Given the description of an element on the screen output the (x, y) to click on. 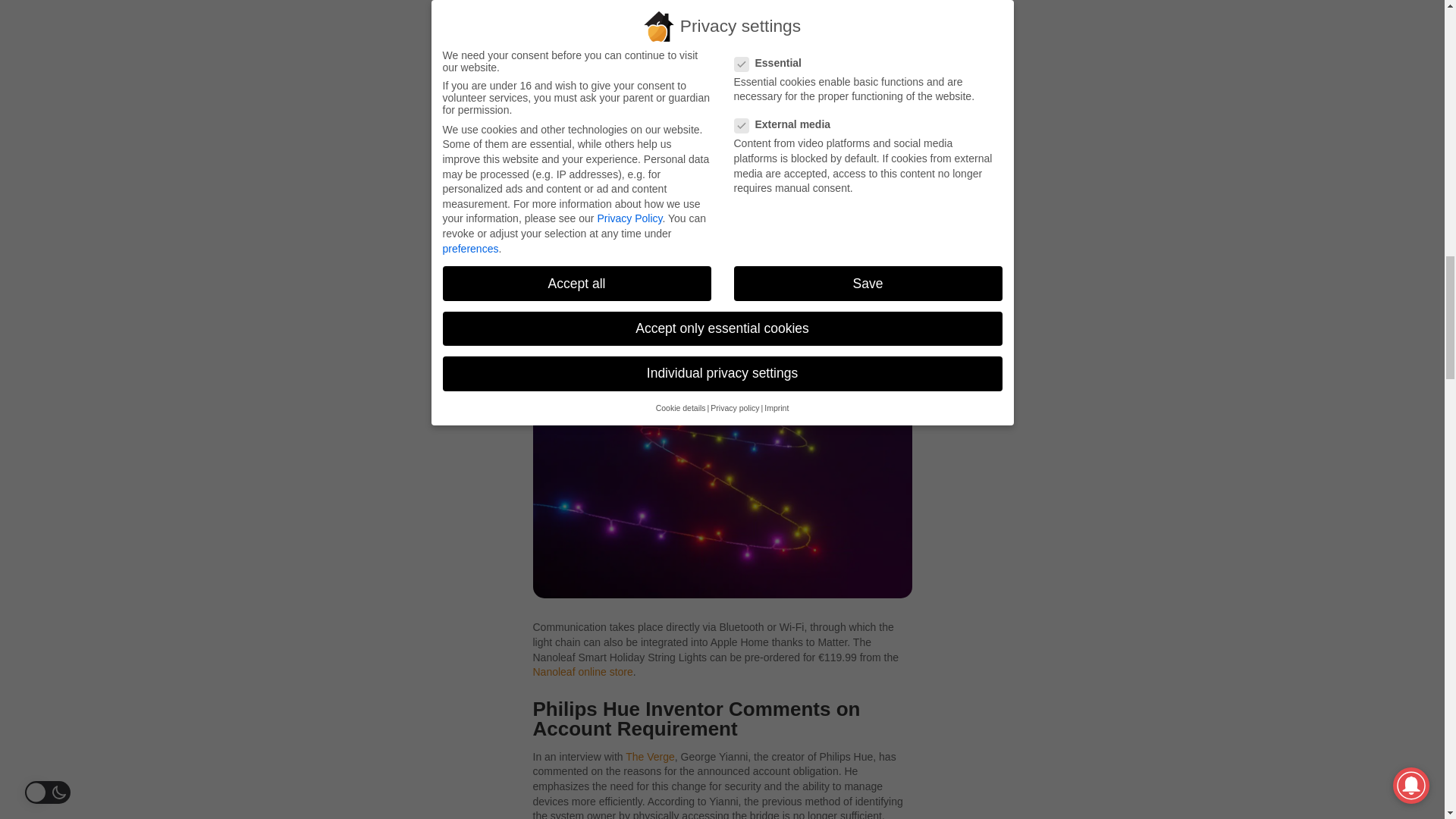
Pre-orders (598, 97)
The Verge (650, 756)
Nanoleaf online store (581, 671)
Nanoleaf Smart Holiday String Lights (619, 182)
